Given the description of an element on the screen output the (x, y) to click on. 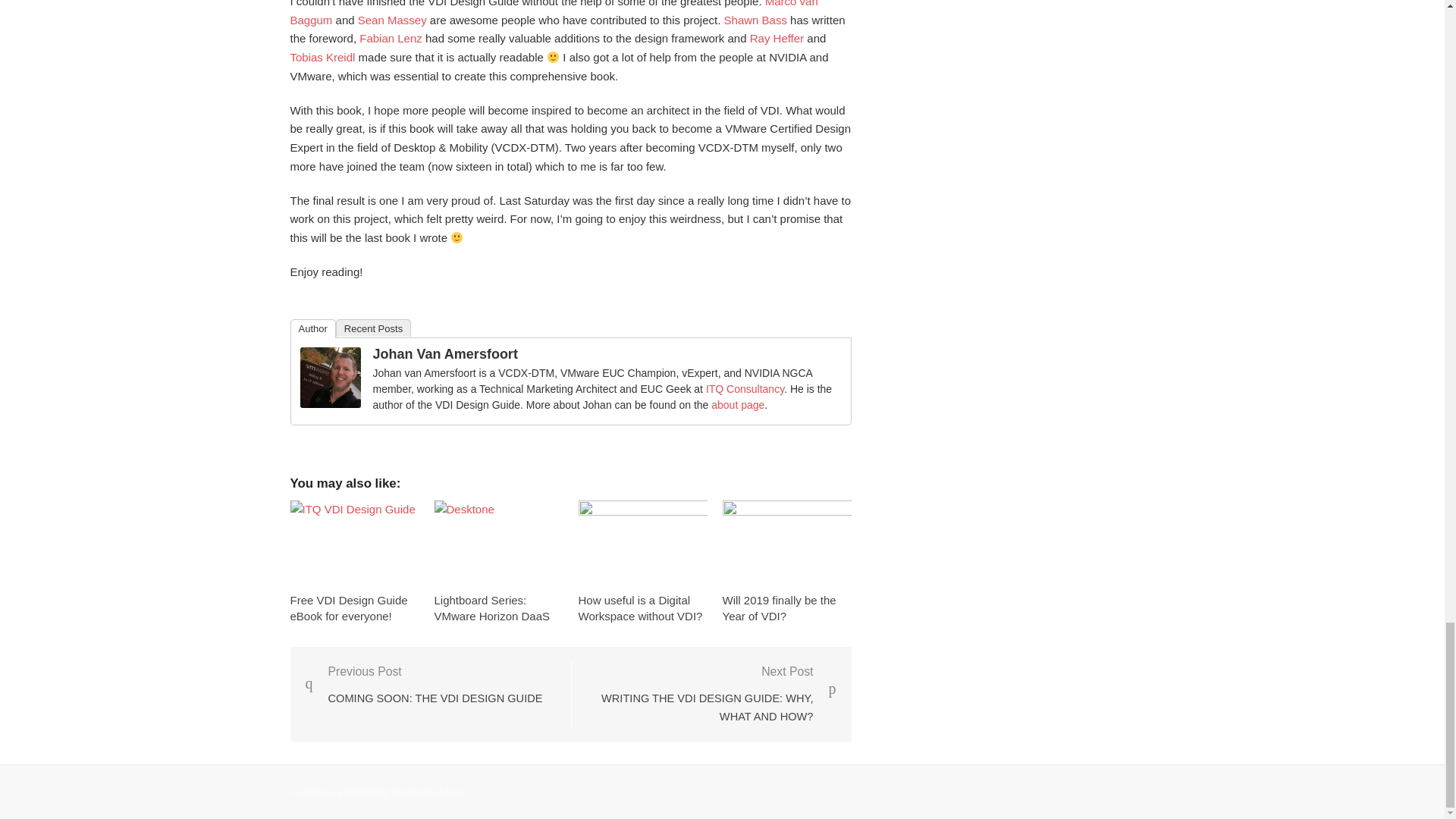
Ray Heffer (776, 38)
Author (311, 328)
about page (737, 404)
Fabian Lenz (390, 38)
Tobias Kreidl (322, 56)
Johan van Amersfoort (330, 403)
Shawn Bass (755, 19)
Recent Posts (373, 327)
Johan Van Amersfoort (445, 353)
Marco van Baggum (552, 13)
ITQ Consultancy (745, 388)
Sean Massey (392, 19)
